Given the description of an element on the screen output the (x, y) to click on. 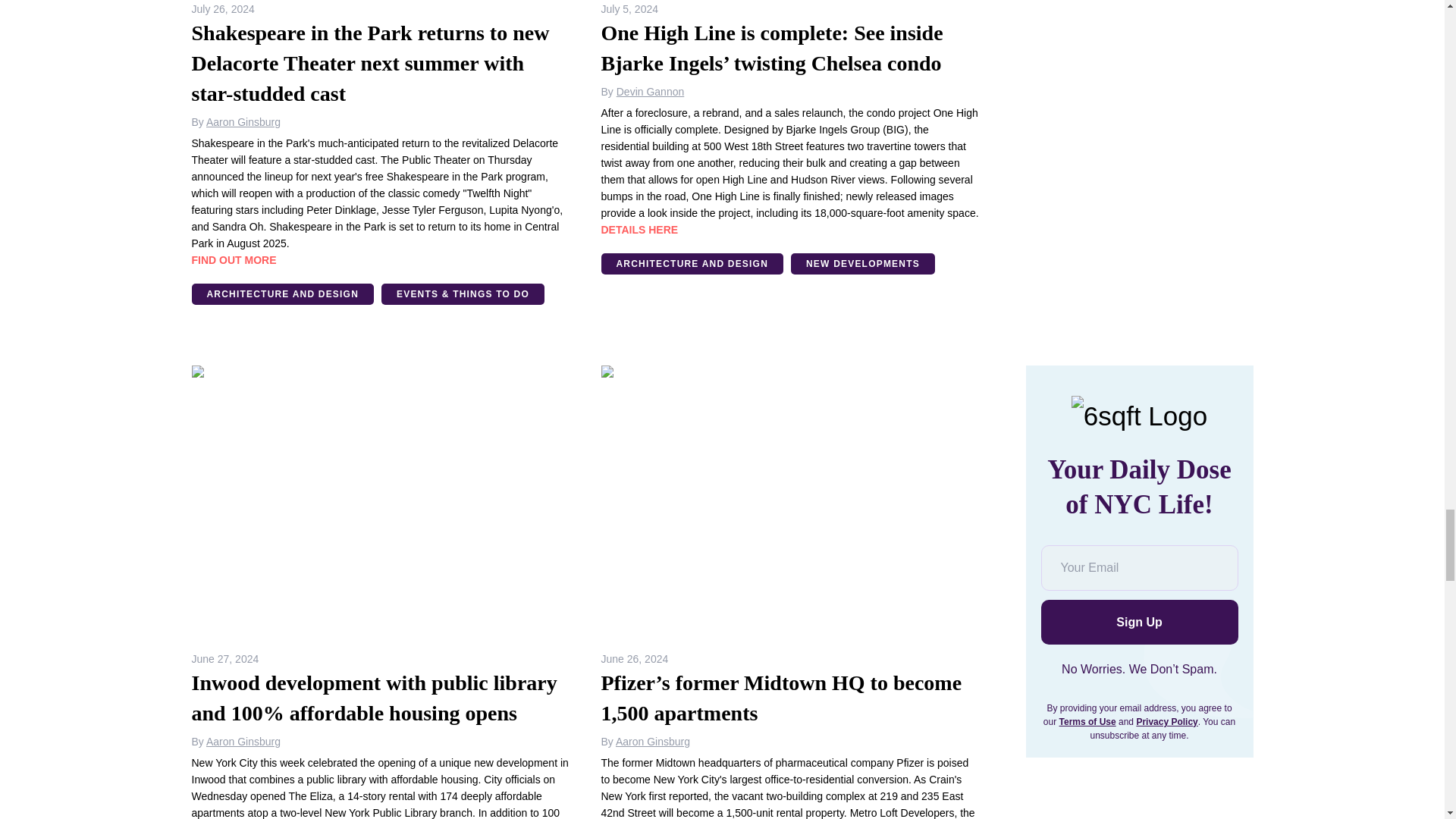
Posts by Devin Gannon (649, 91)
Posts by Aaron Ginsburg (243, 121)
Sign Up (1139, 621)
